Given the description of an element on the screen output the (x, y) to click on. 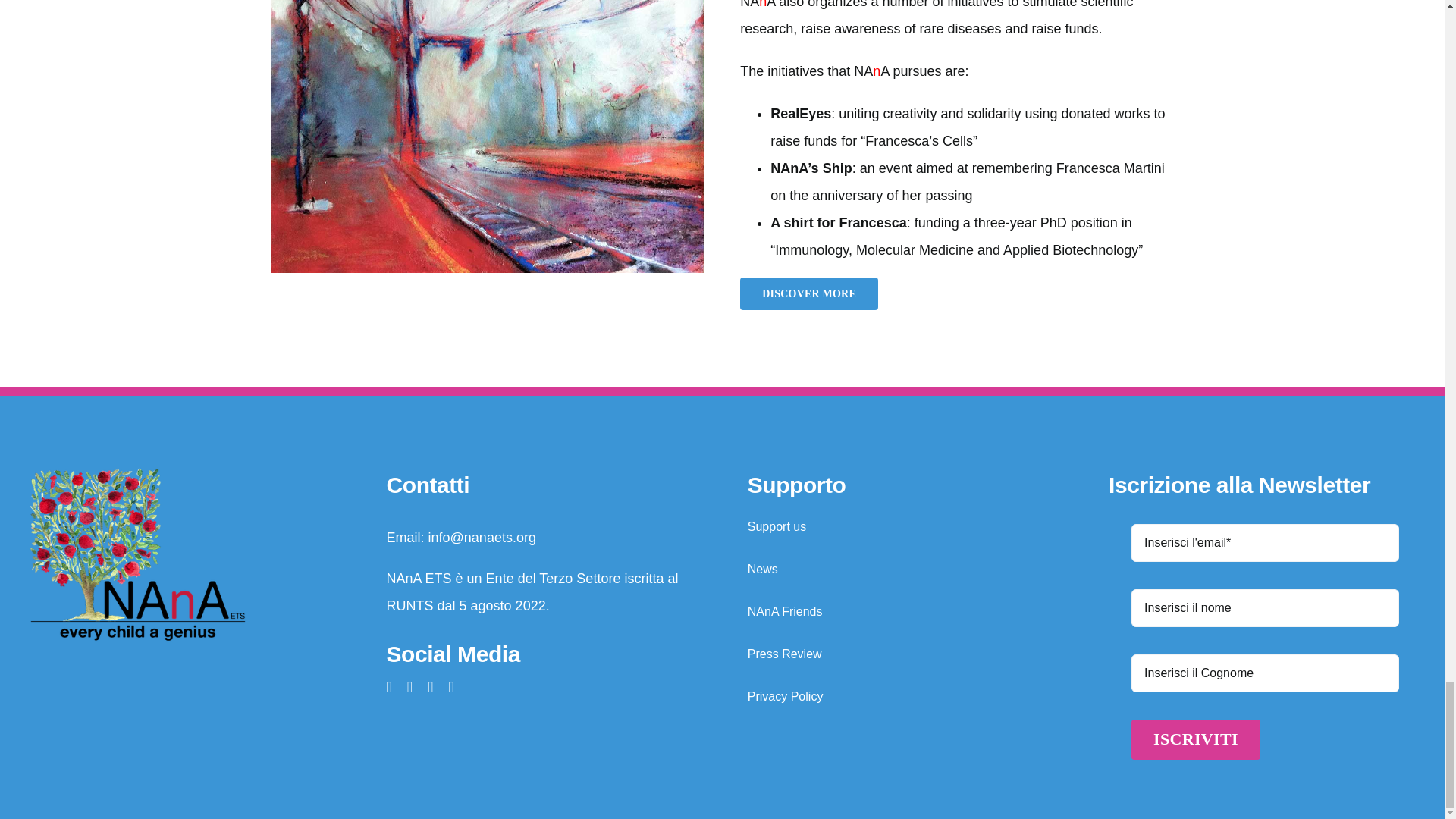
6d639b33 (487, 135)
ISCRIVITI (1265, 648)
logo-NANA-ets (136, 554)
